Given the description of an element on the screen output the (x, y) to click on. 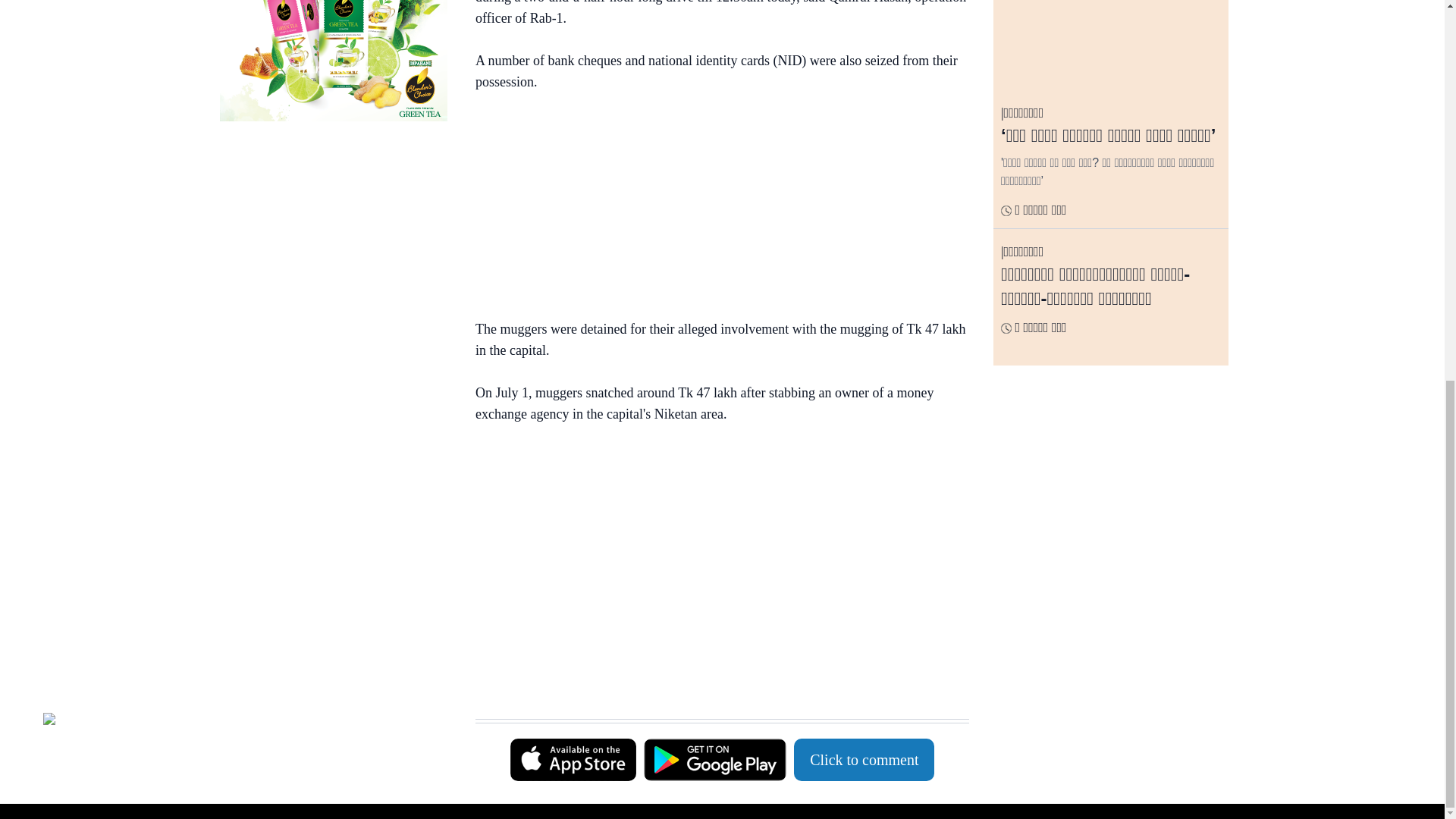
3rd party ad content (332, 230)
3rd party ad content (714, 680)
3rd party ad content (332, 60)
3rd party ad content (713, 540)
3rd party ad content (713, 208)
